Given the description of an element on the screen output the (x, y) to click on. 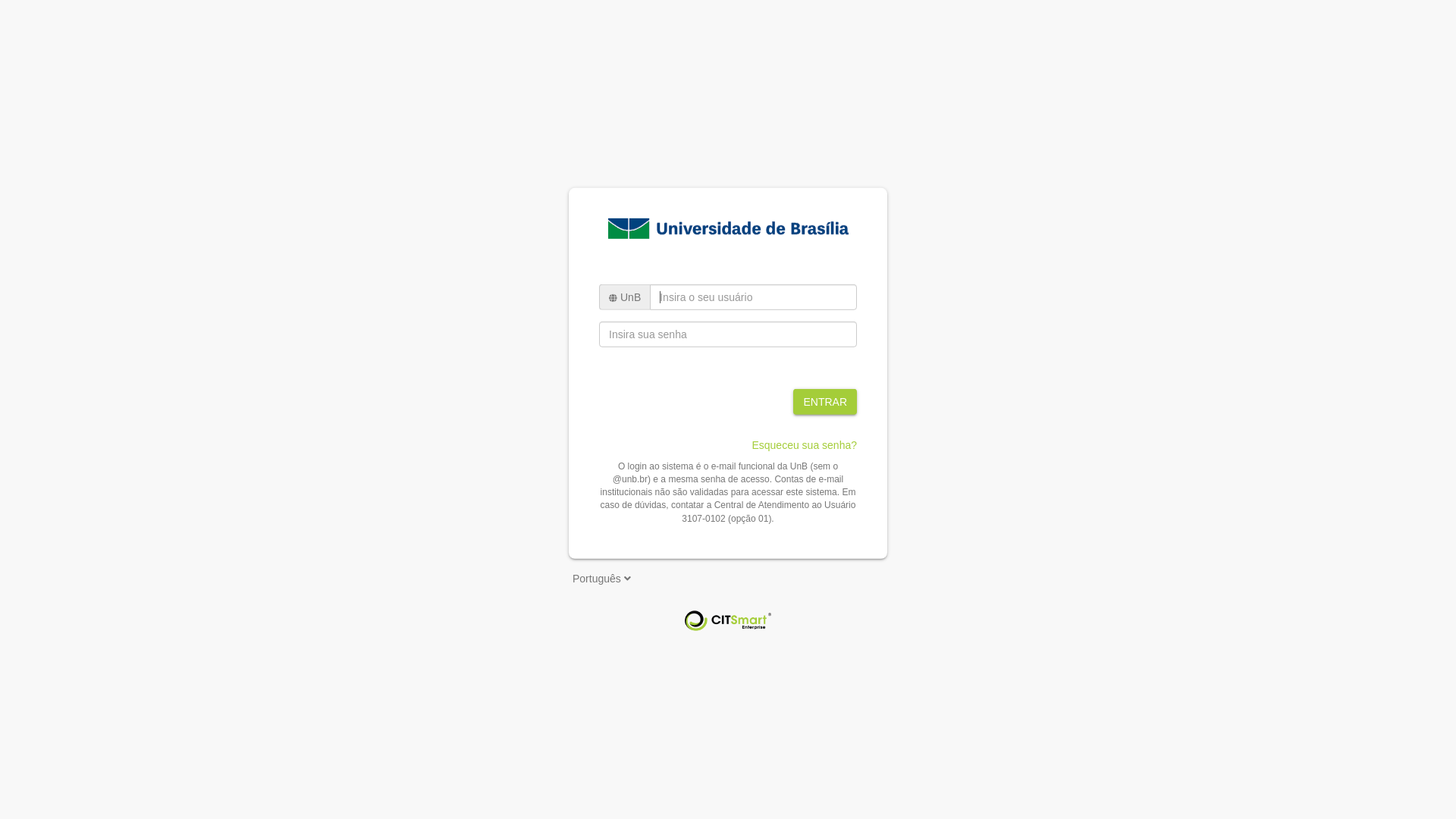
Esqueceu sua senha? Element type: text (803, 444)
ENTRAR Element type: text (824, 401)
